Given the description of an element on the screen output the (x, y) to click on. 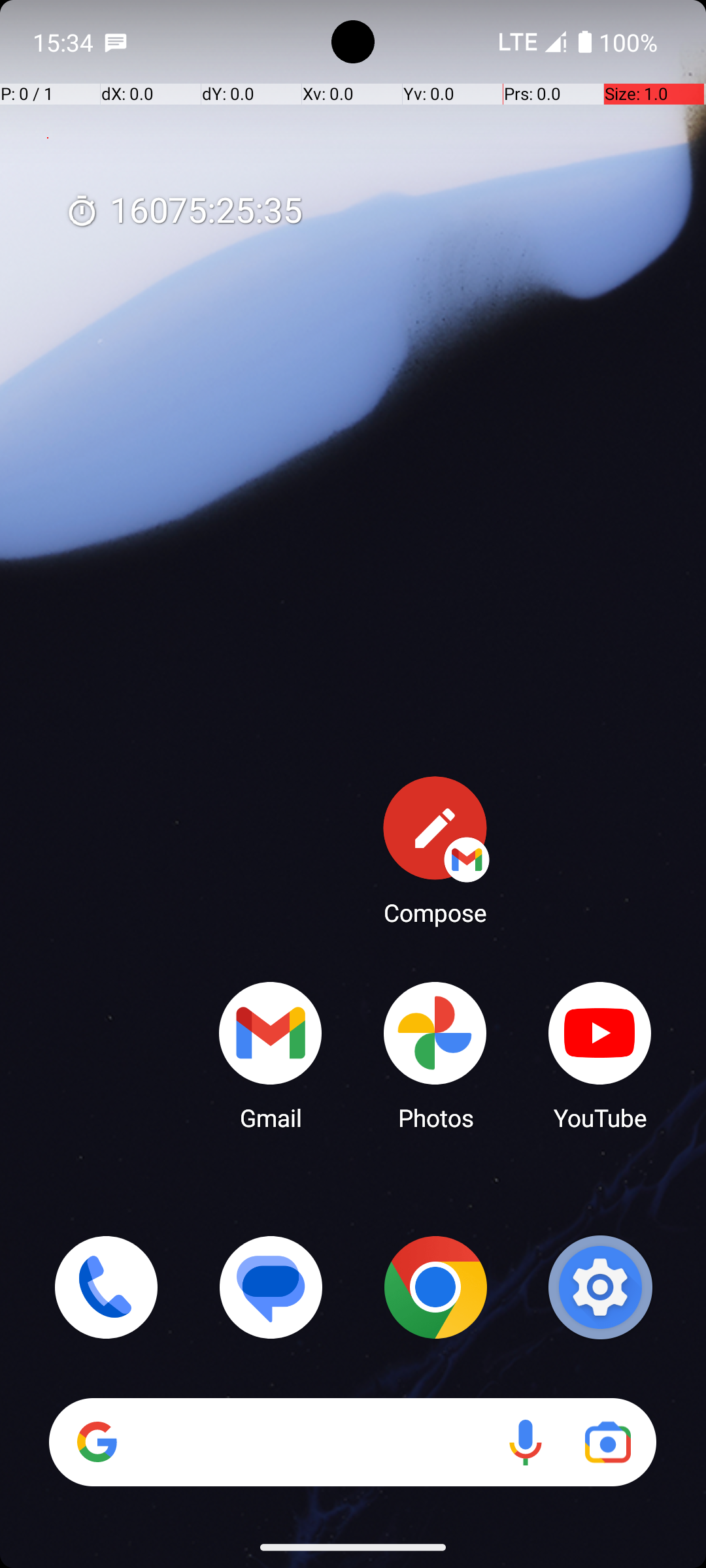
16075:25:36 Element type: android.widget.TextView (183, 210)
